Given the description of an element on the screen output the (x, y) to click on. 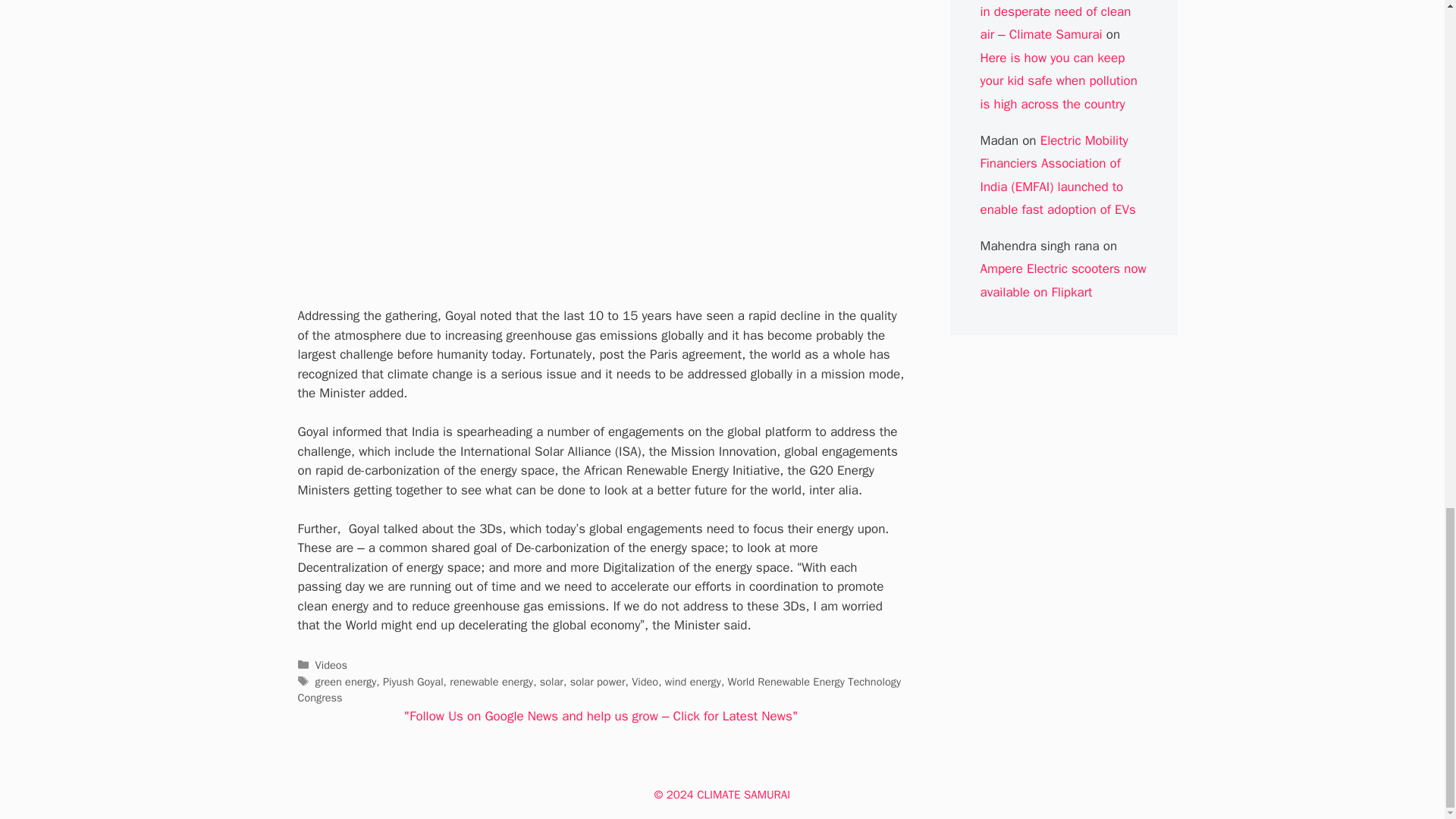
Videos (331, 664)
Piyush Goyal (413, 681)
World Renewable Energy Technology Congress (598, 689)
solar power (598, 681)
wind energy (692, 681)
green energy (346, 681)
Video (644, 681)
solar (551, 681)
renewable energy (490, 681)
